Given the description of an element on the screen output the (x, y) to click on. 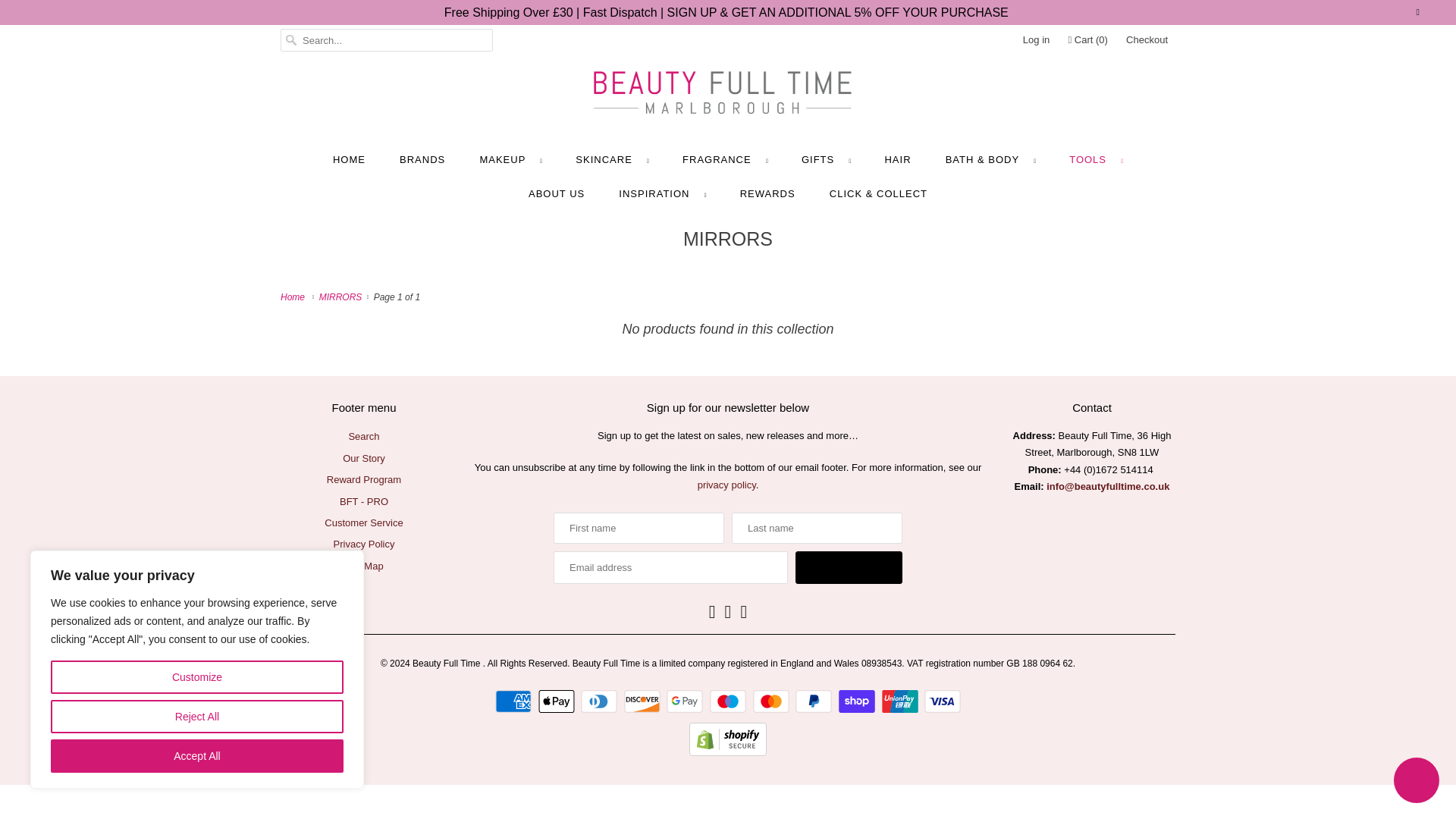
MIRRORS (342, 296)
Maestro (729, 701)
Checkout (1146, 39)
Diners Club (600, 701)
PayPal (814, 701)
Beauty Full Time  (727, 95)
Accept All (196, 756)
Union Pay (900, 701)
Google Pay (686, 701)
American Express (515, 701)
